Given the description of an element on the screen output the (x, y) to click on. 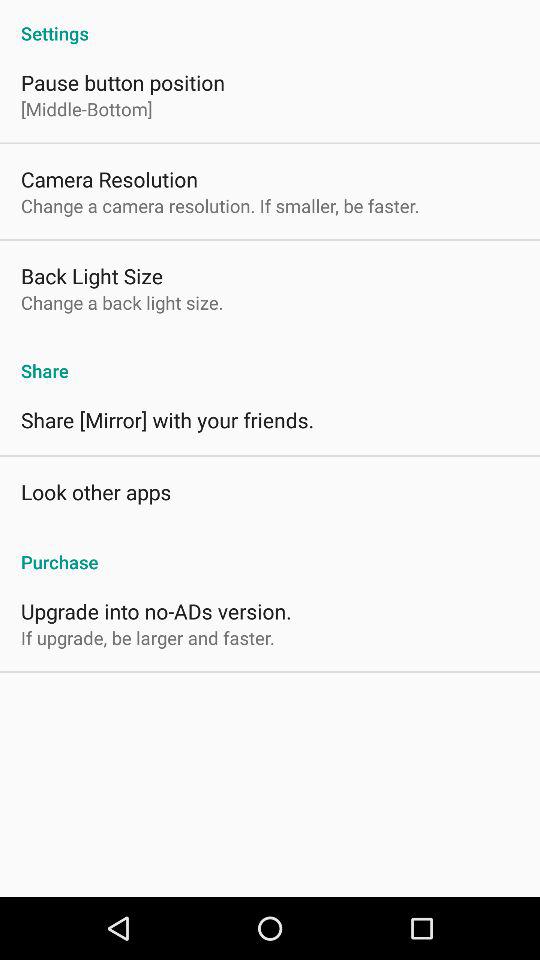
choose pause button position icon (122, 82)
